Given the description of an element on the screen output the (x, y) to click on. 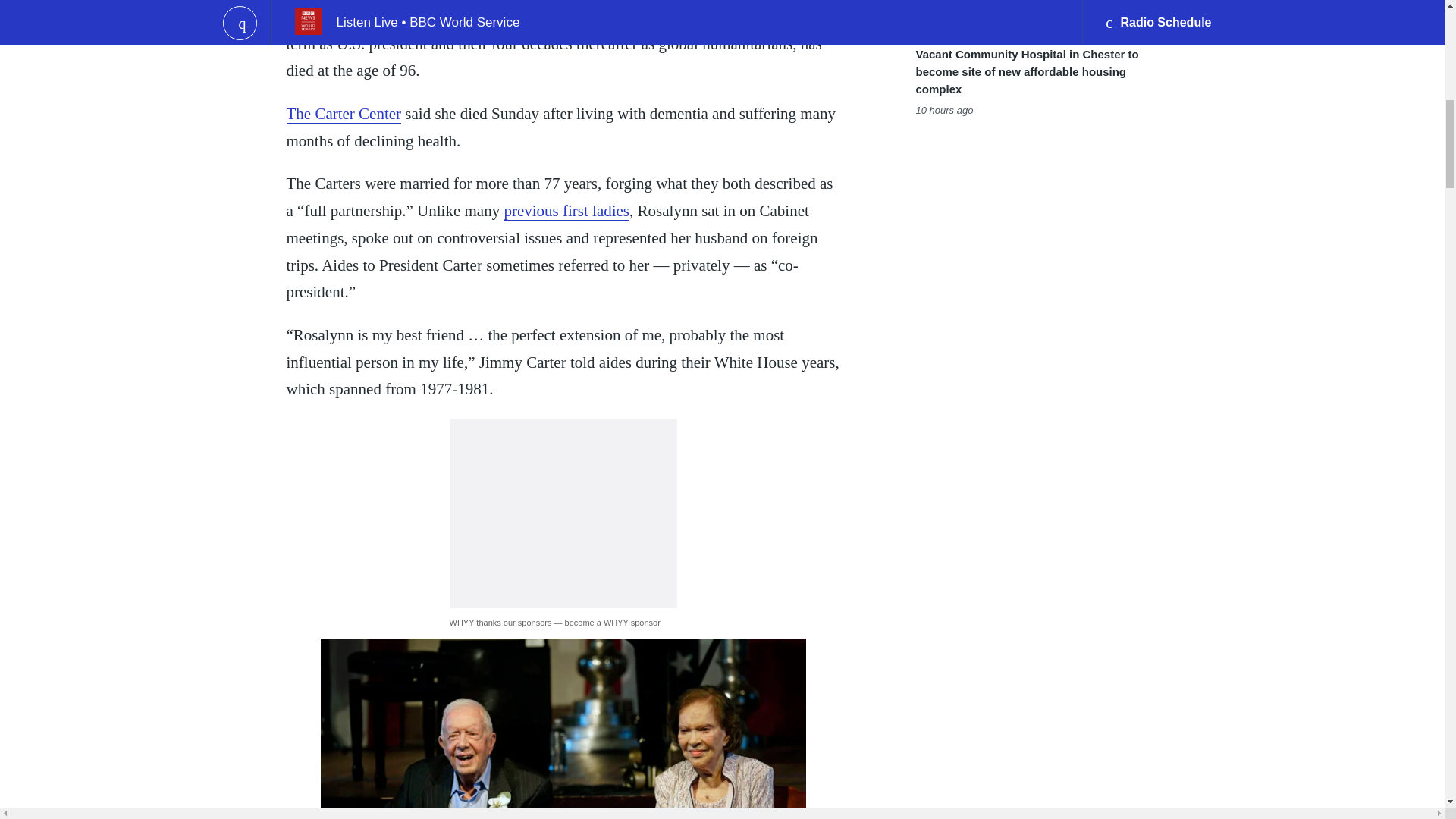
3rd party ad content (562, 513)
